Given the description of an element on the screen output the (x, y) to click on. 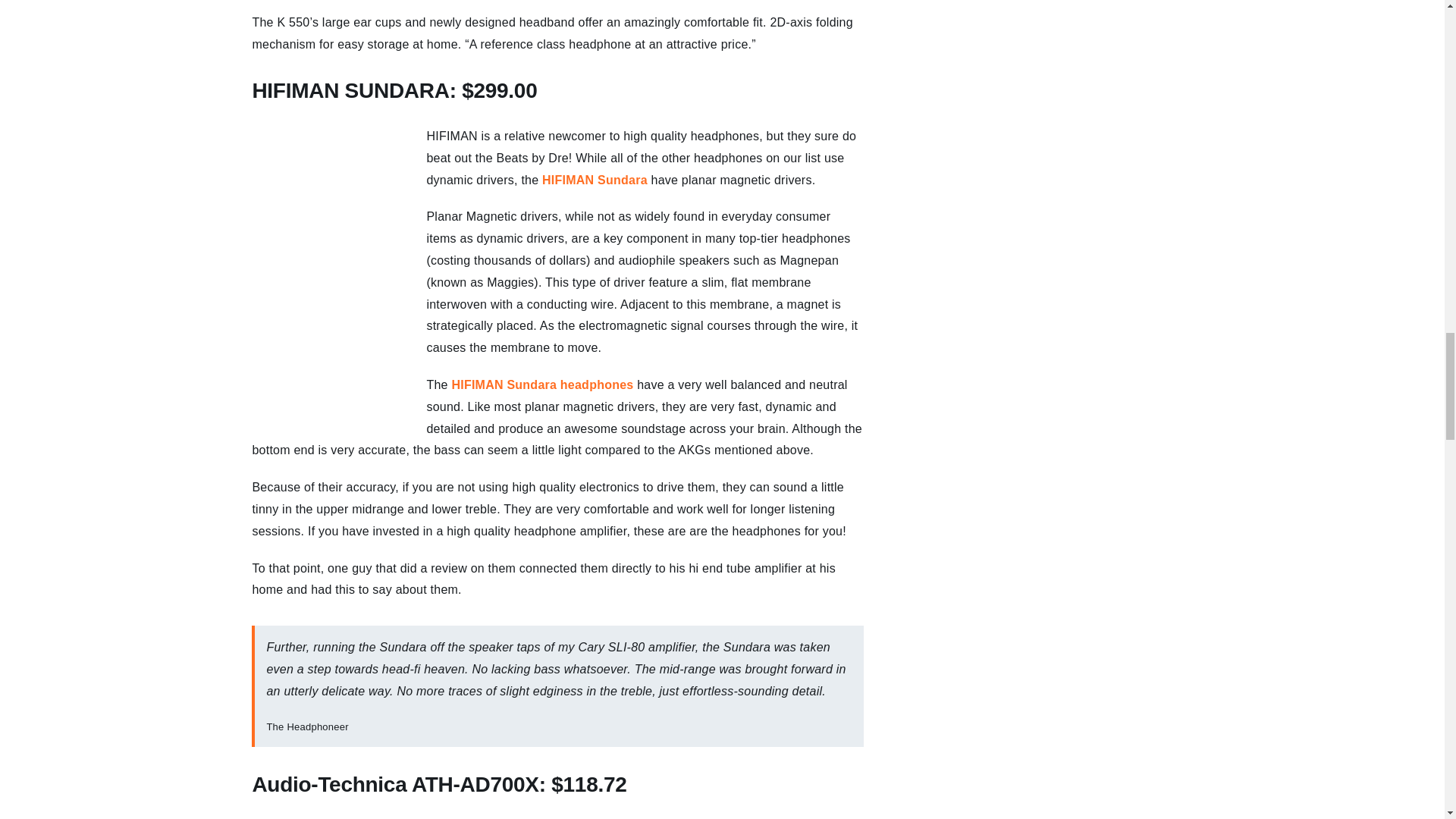
ra (640, 179)
phones (611, 384)
HIFIMAN Sunda (587, 179)
HIFIMAN Sundara head (520, 384)
